Given the description of an element on the screen output the (x, y) to click on. 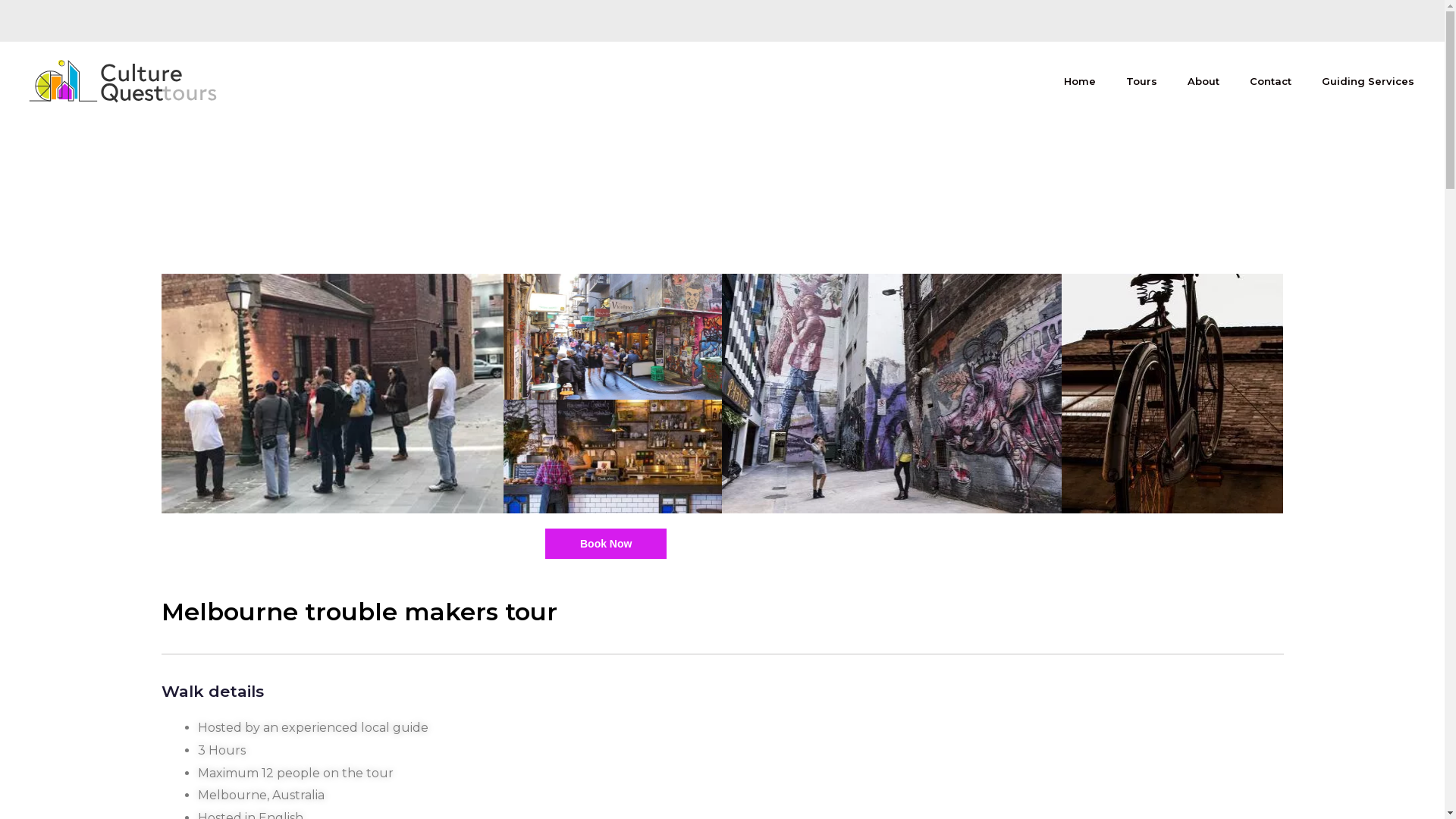
ACDC Lane, Melbourne Element type: hover (891, 393)
Tours Element type: text (1141, 80)
Home Element type: text (1079, 80)
Guiding Services Element type: text (1367, 80)
Book Now Element type: text (605, 543)
About Element type: text (1203, 80)
Contact Element type: text (1270, 80)
